Given the description of an element on the screen output the (x, y) to click on. 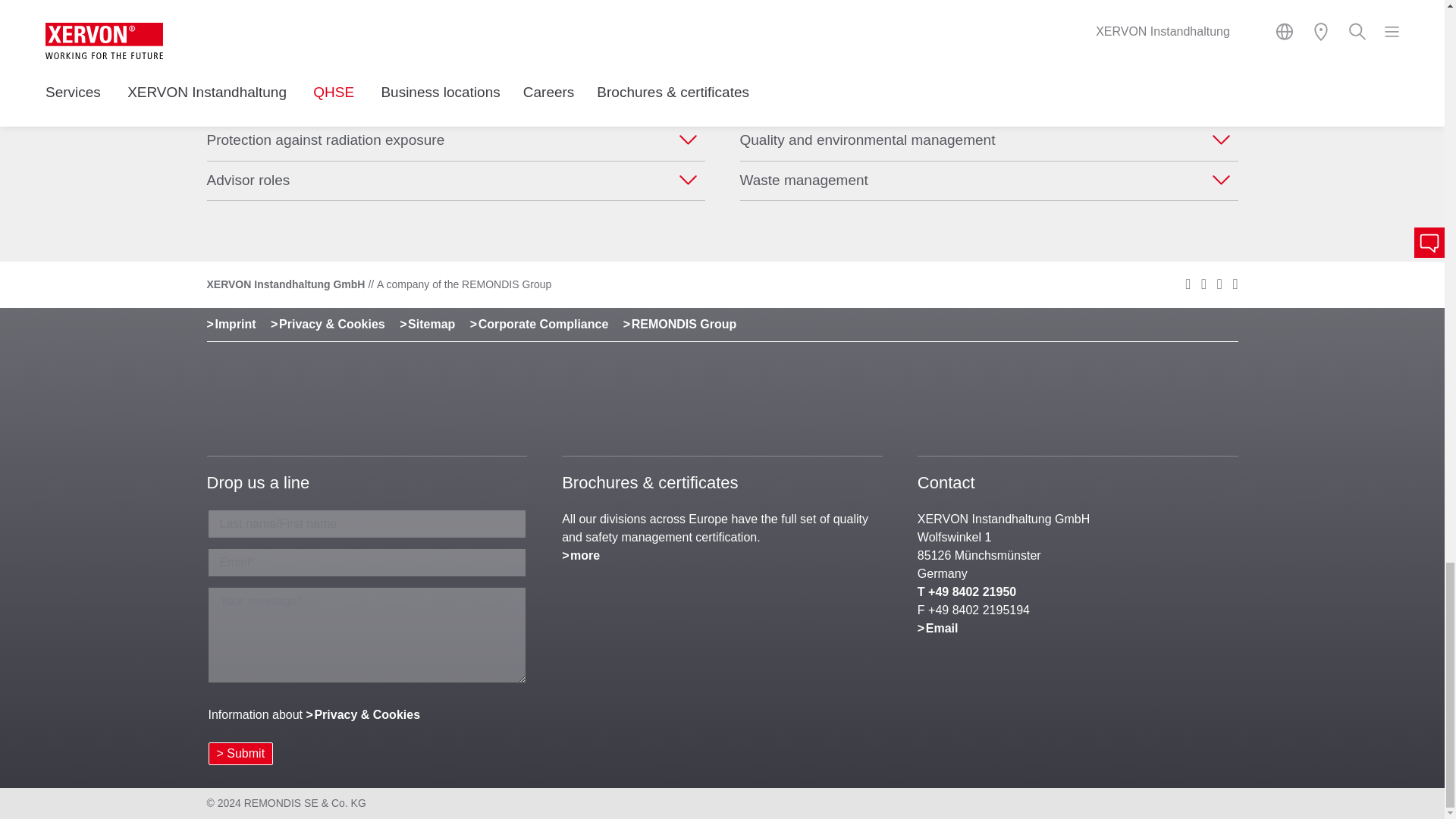
Submit form (240, 753)
